Given the description of an element on the screen output the (x, y) to click on. 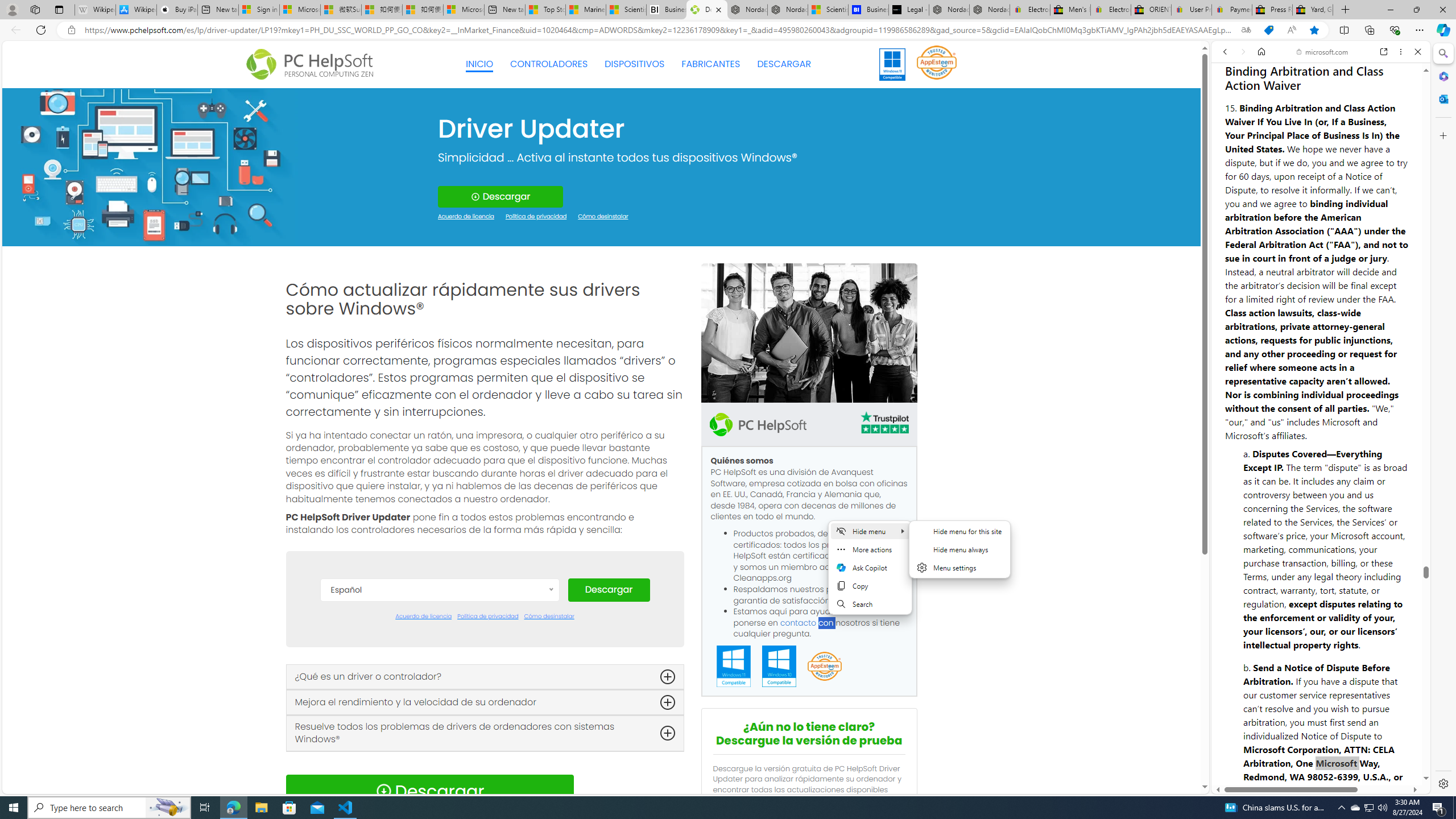
Logo Personal Computing (313, 64)
Mini menu on text selection (869, 567)
INICIO (479, 64)
Copy (869, 585)
Address and search bar (658, 29)
Wikipedia - Sleeping (94, 9)
Descarga Driver Updater (706, 9)
Outlook (1442, 98)
team (808, 332)
PCHelpsoft (757, 423)
